Given the description of an element on the screen output the (x, y) to click on. 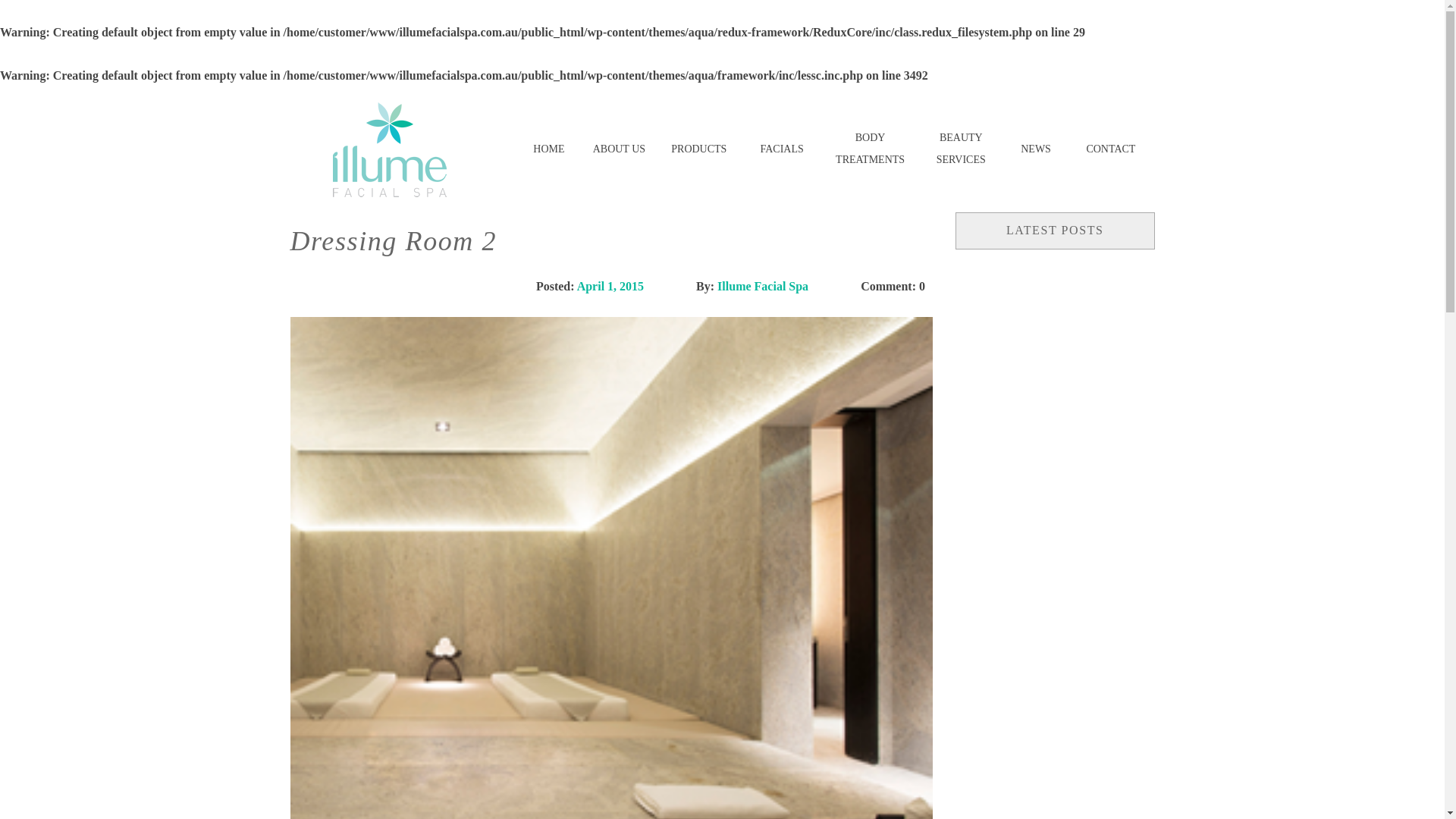
HOME Element type: text (548, 149)
NEWS Element type: text (1035, 149)
BODY TREATMENTS Element type: text (870, 149)
PRODUCTS Element type: text (698, 149)
Illume Facial Spa Element type: text (762, 285)
BEAUTY SERVICES Element type: text (960, 149)
CONTACT Element type: text (1110, 149)
ABOUT US Element type: text (619, 149)
April 1, 2015 Element type: text (610, 285)
FACIALS Element type: text (781, 149)
